Given the description of an element on the screen output the (x, y) to click on. 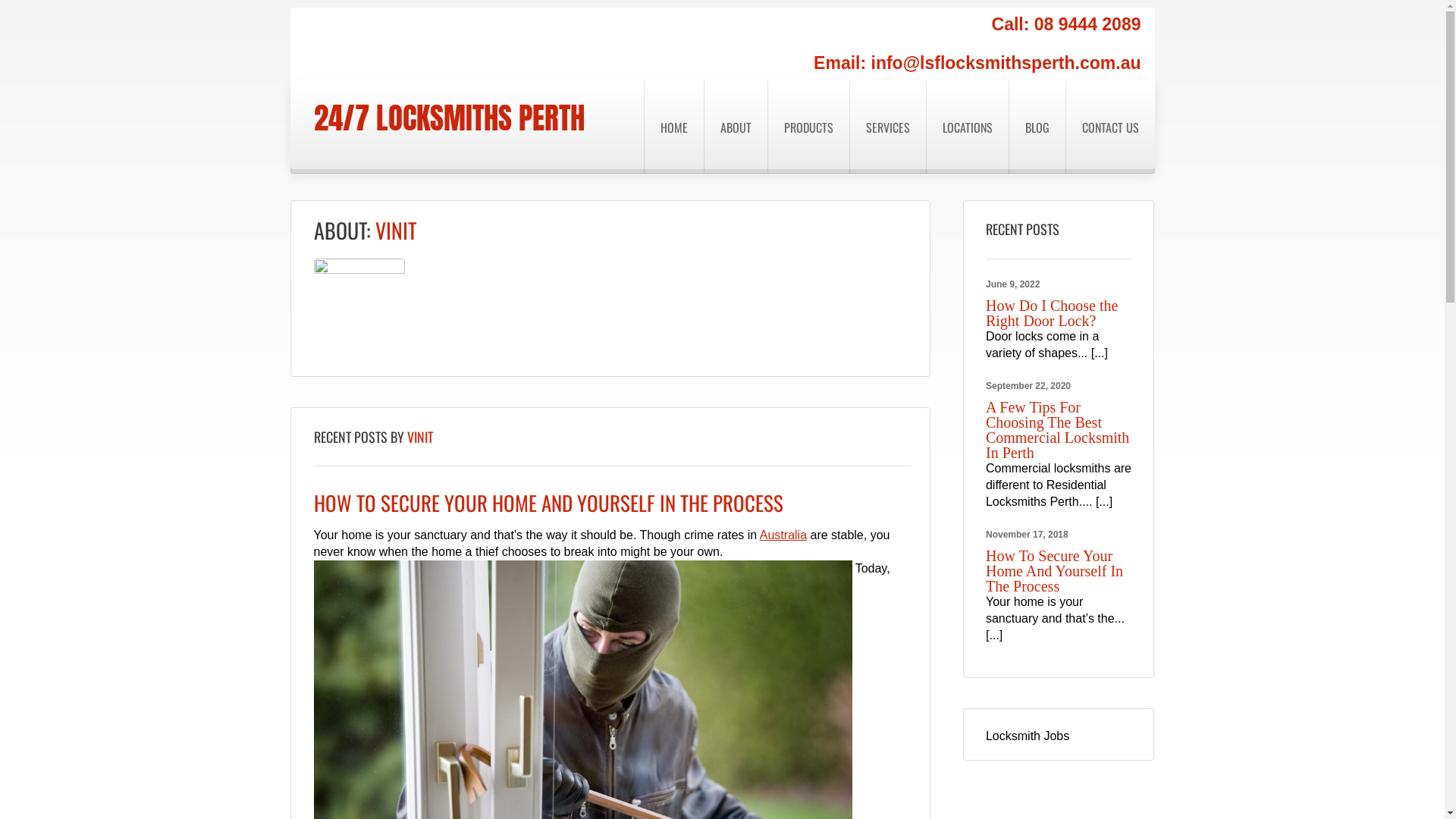
[...] Element type: text (1103, 501)
PRODUCTS Element type: text (808, 126)
How To Secure Your Home And Yourself In The Process Element type: text (1054, 570)
BLOG Element type: text (1036, 126)
HOW TO SECURE YOUR HOME AND YOURSELF IN THE PROCESS Element type: text (548, 502)
Locksmith Jobs Element type: text (1027, 735)
[...] Element type: text (993, 634)
[...] Element type: text (1099, 352)
Australia Element type: text (782, 534)
CONTACT US Element type: text (1109, 126)
SERVICES Element type: text (887, 126)
ABOUT Element type: text (735, 126)
LOCATIONS Element type: text (966, 126)
24/7 LOCKSMITHS PERTH Element type: text (448, 117)
Call: 08 9444 2089 Element type: text (1066, 24)
How Do I Choose the Right Door Lock? Element type: text (1051, 313)
HOME Element type: text (672, 126)
Email: info@lsflocksmithsperth.com.au Element type: text (976, 62)
